Given the description of an element on the screen output the (x, y) to click on. 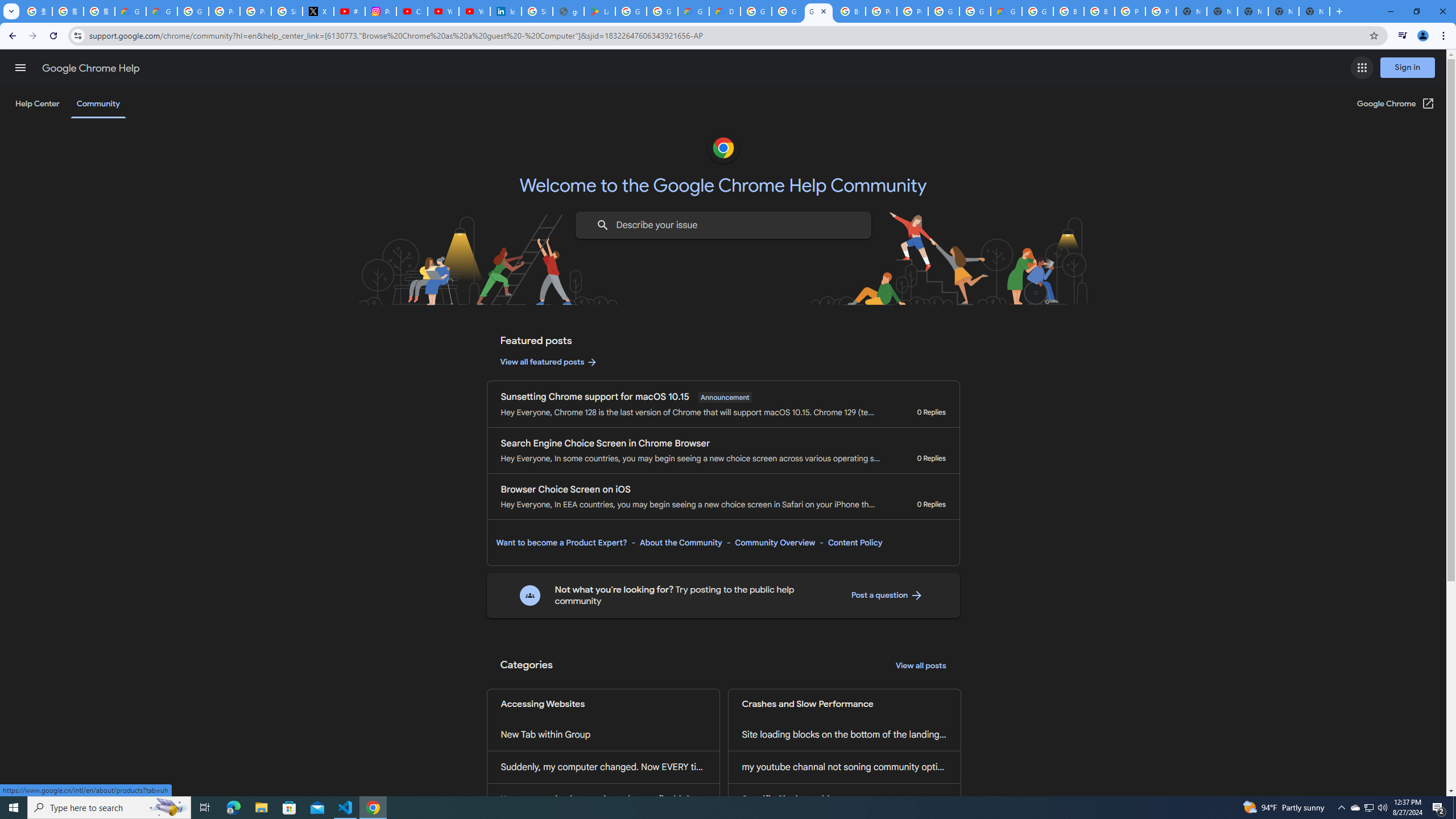
New Tab (1314, 11)
Help Center (36, 103)
